Given the description of an element on the screen output the (x, y) to click on. 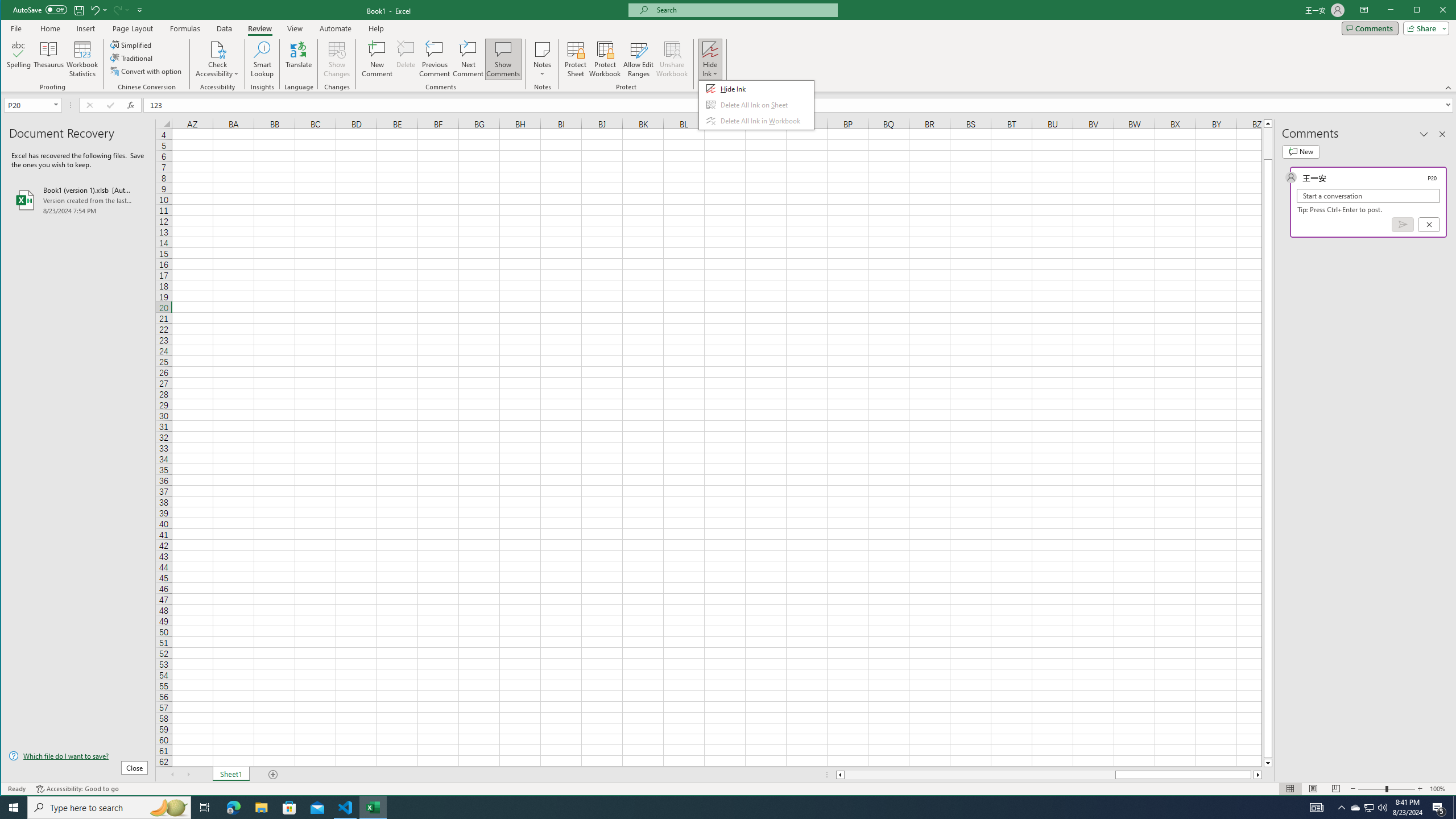
Spelling... (18, 59)
Convert with option (146, 70)
